Given the description of an element on the screen output the (x, y) to click on. 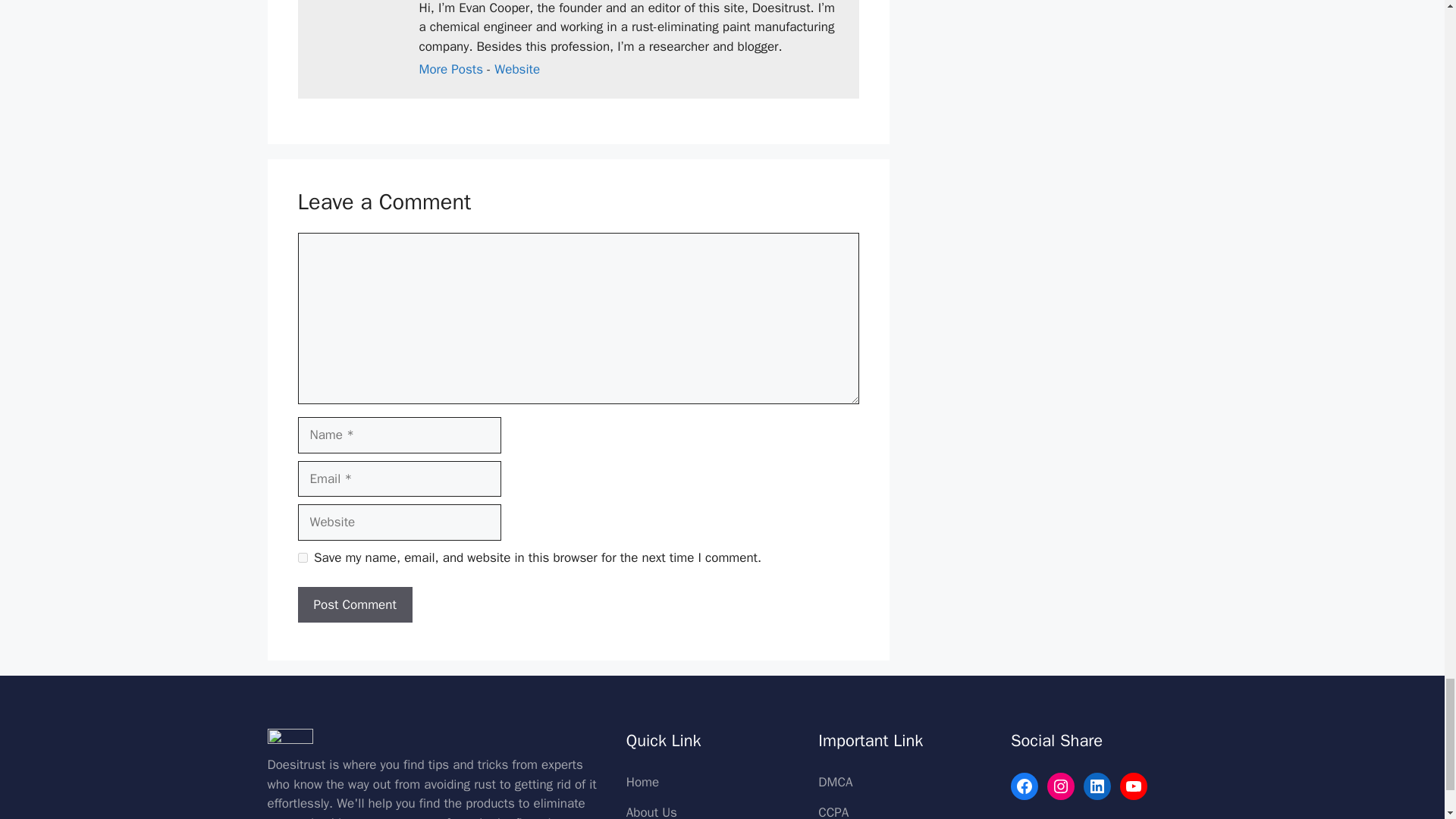
More Posts (451, 68)
Home (642, 781)
Website (517, 68)
YouTube (1133, 786)
LinkedIn (1096, 786)
About Us (651, 811)
DMCA (834, 781)
Facebook (1024, 786)
CCPA (833, 811)
More posts by Evan Cooper (451, 68)
